Given the description of an element on the screen output the (x, y) to click on. 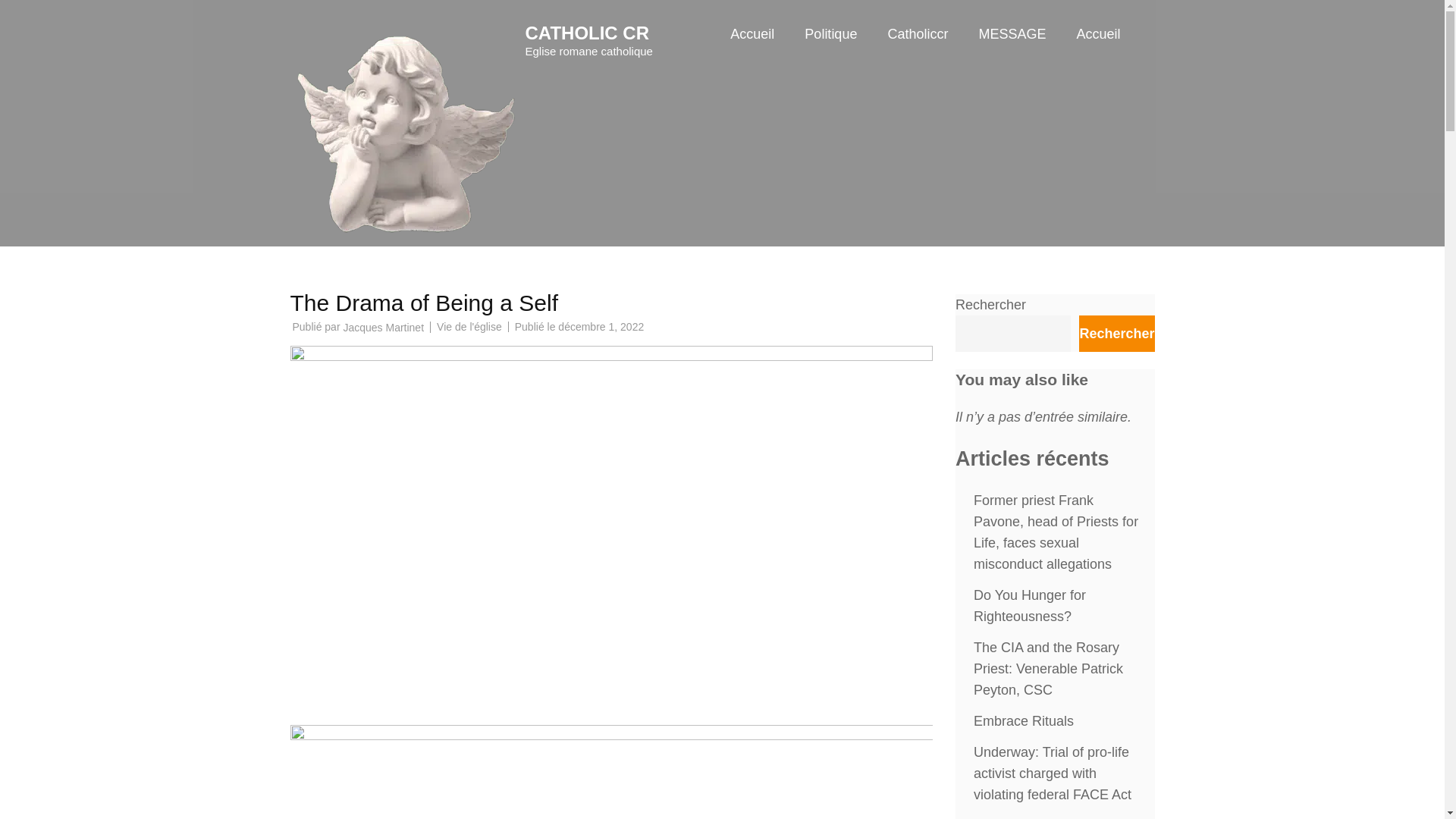
Politique (831, 47)
The CIA and the Rosary Priest: Venerable Patrick Peyton, CSC (1048, 668)
Rechercher (1116, 333)
Do You Hunger for Righteousness? (1030, 606)
CATHOLIC CR (586, 32)
Accueil (1097, 47)
Accueil (752, 47)
Catholiccr (916, 47)
Embrace Rituals (1024, 720)
